Given the description of an element on the screen output the (x, y) to click on. 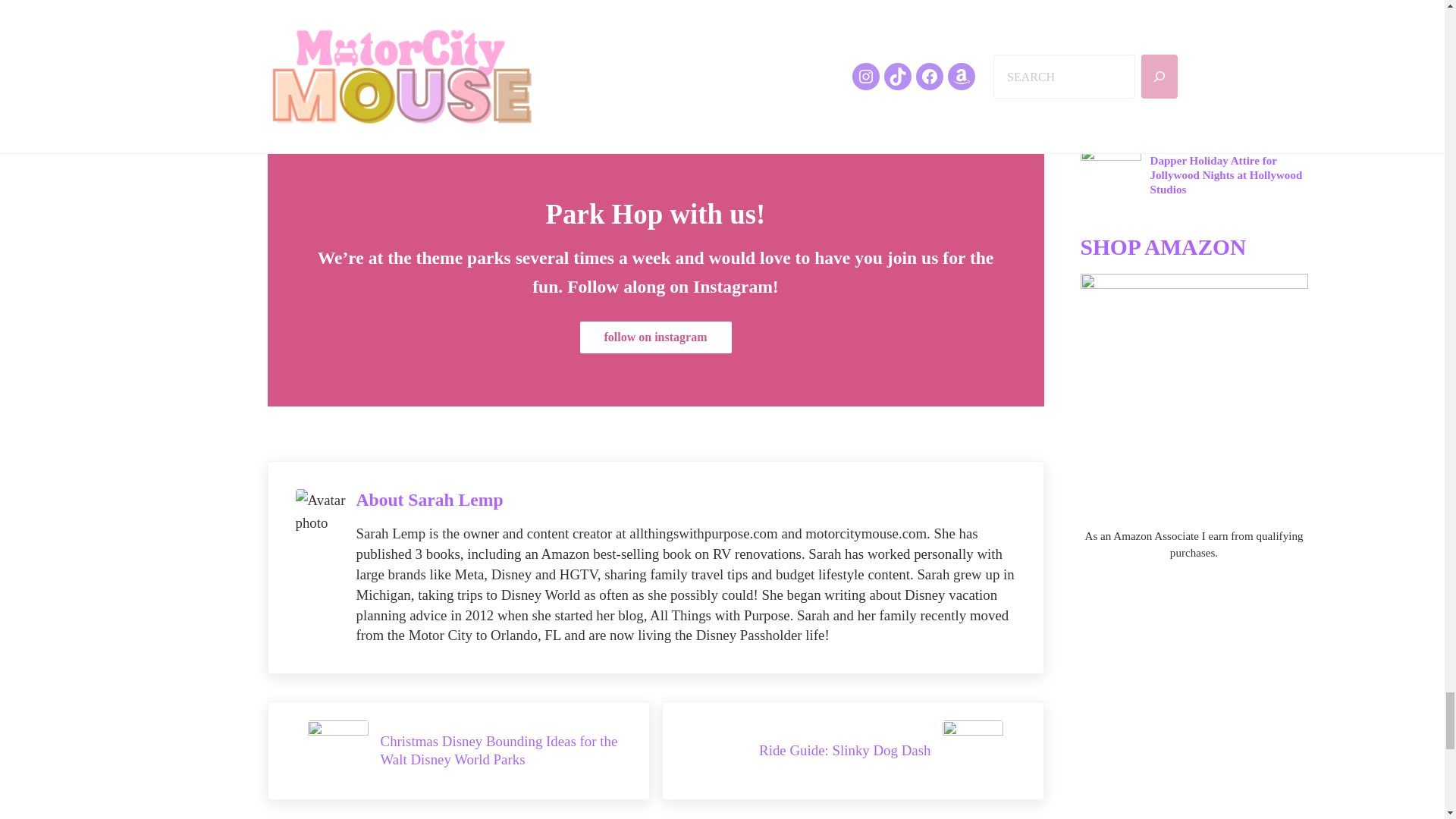
Share on Twitter (394, 76)
Share on Pinterest (466, 76)
Share on Facebook (309, 76)
Florida Travel (347, 13)
